Given the description of an element on the screen output the (x, y) to click on. 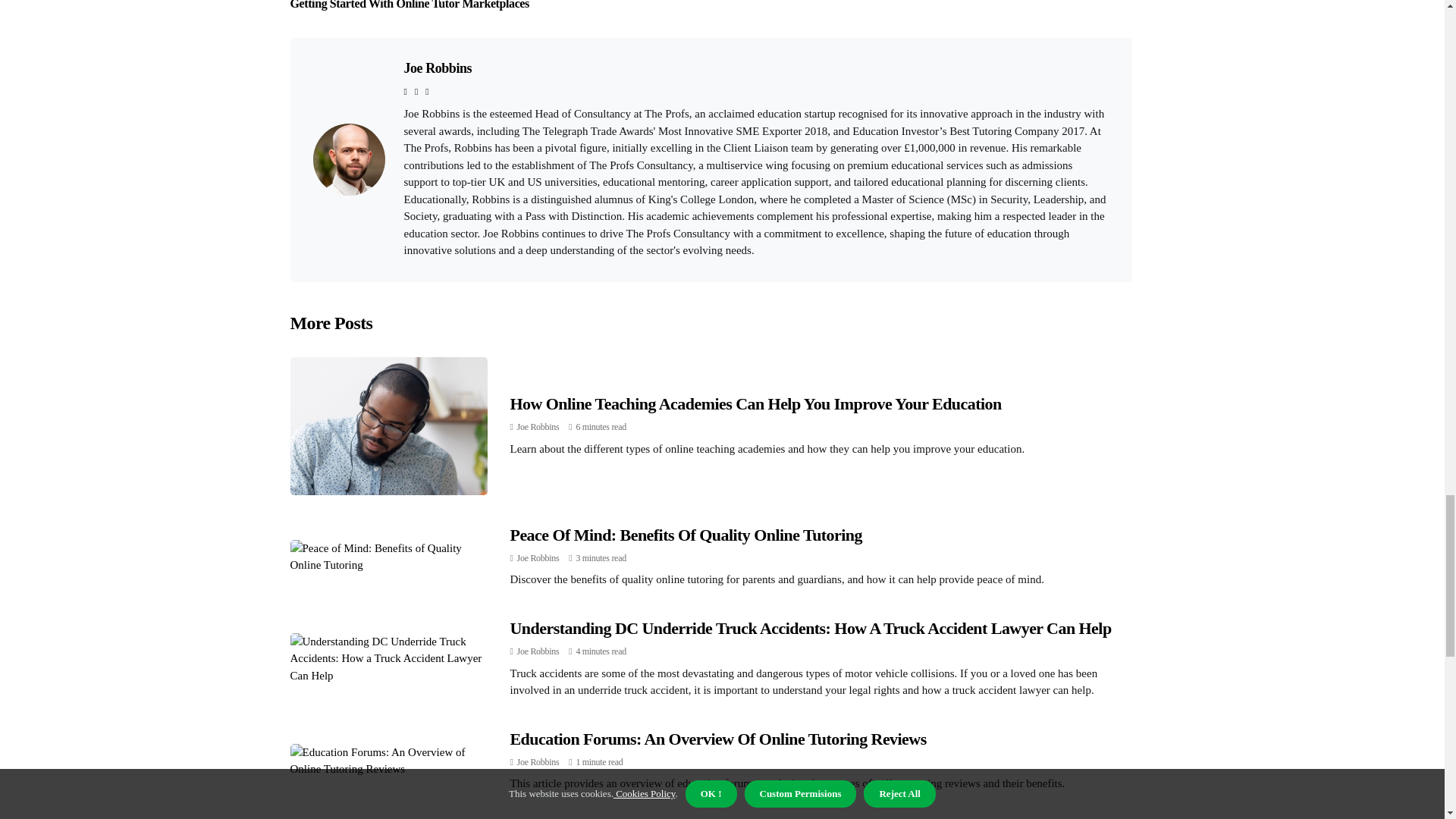
Posts by Joe Robbins (537, 426)
Posts by Joe Robbins (537, 557)
Posts by Joe Robbins (537, 651)
Posts by Joe Robbins (537, 761)
